Given the description of an element on the screen output the (x, y) to click on. 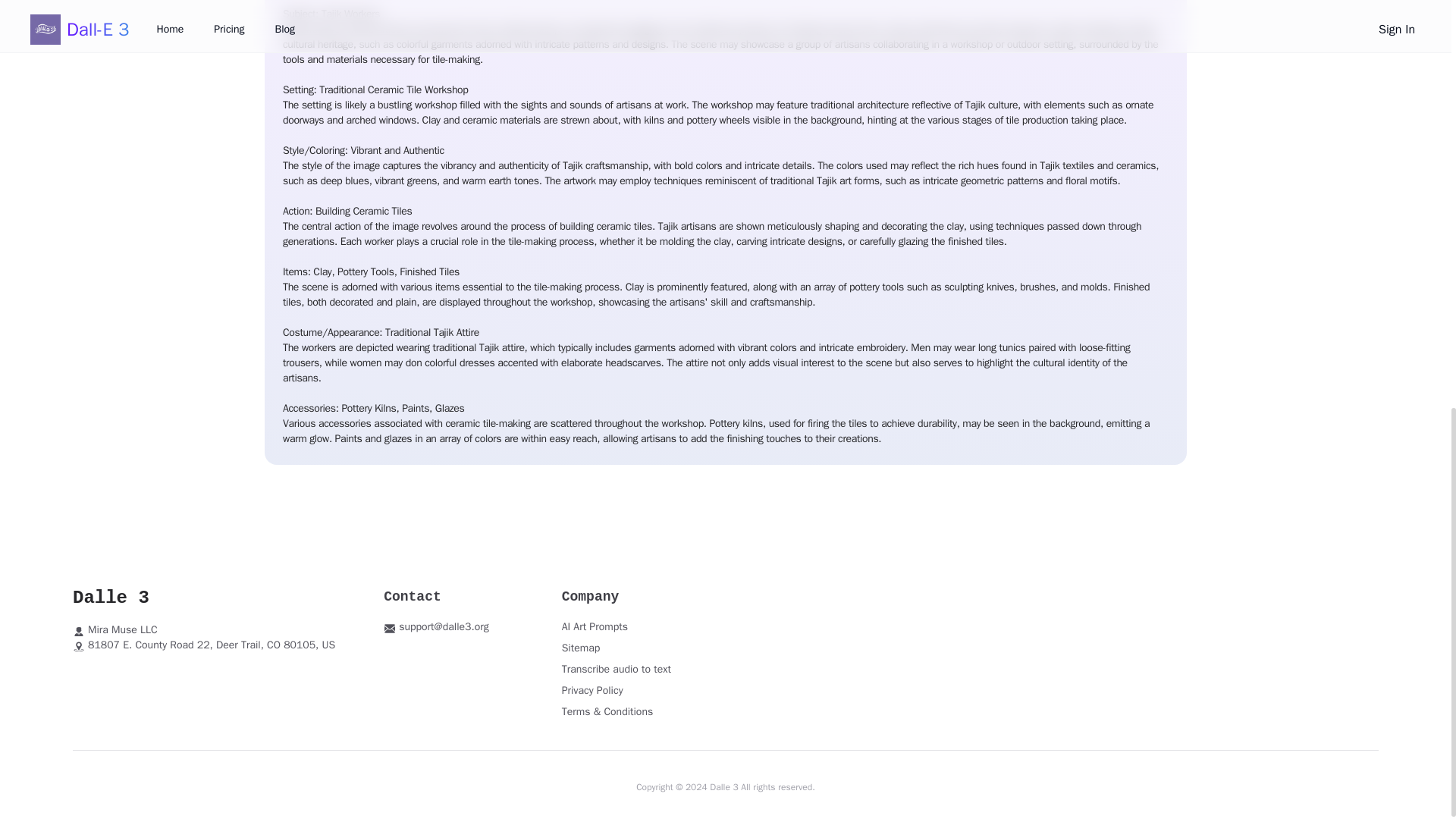
AI Art Prompts (594, 626)
Sitemap (580, 648)
Privacy Policy (592, 690)
Transcribe audio to text (616, 669)
